Given the description of an element on the screen output the (x, y) to click on. 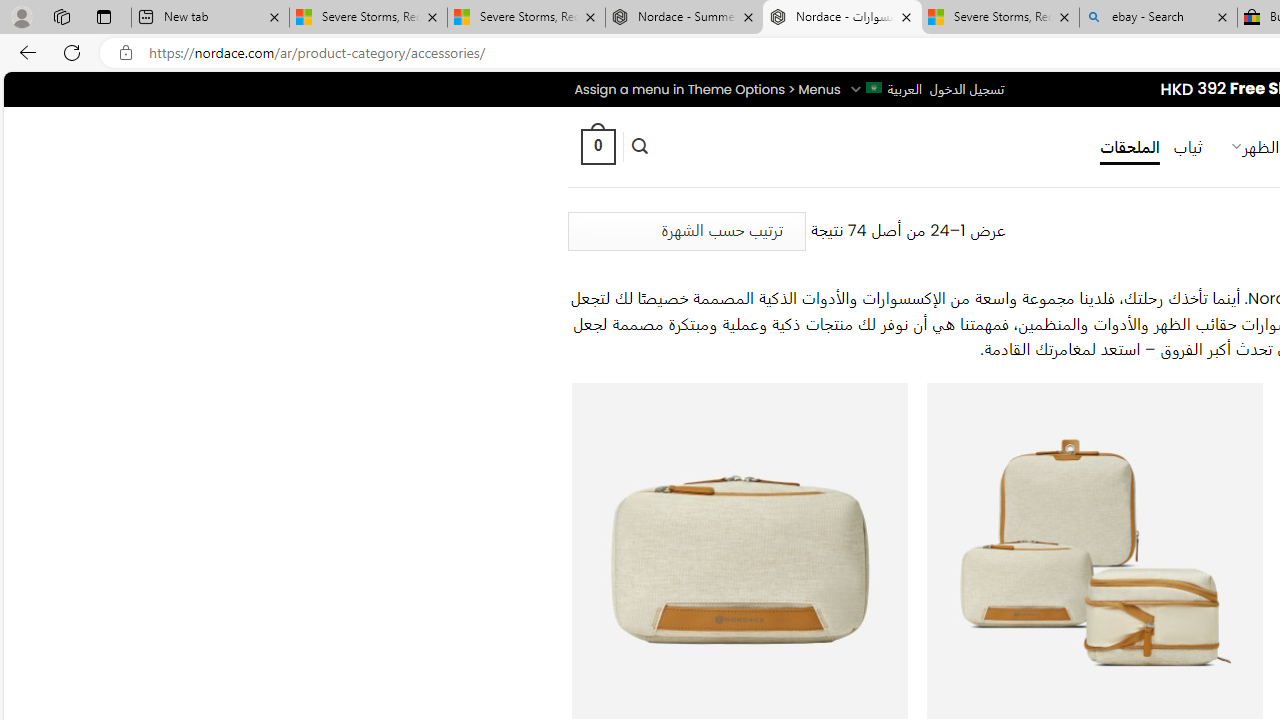
 0  (597, 146)
ebay - Search (1158, 17)
Assign a menu in Theme Options > Menus (706, 89)
